Given the description of an element on the screen output the (x, y) to click on. 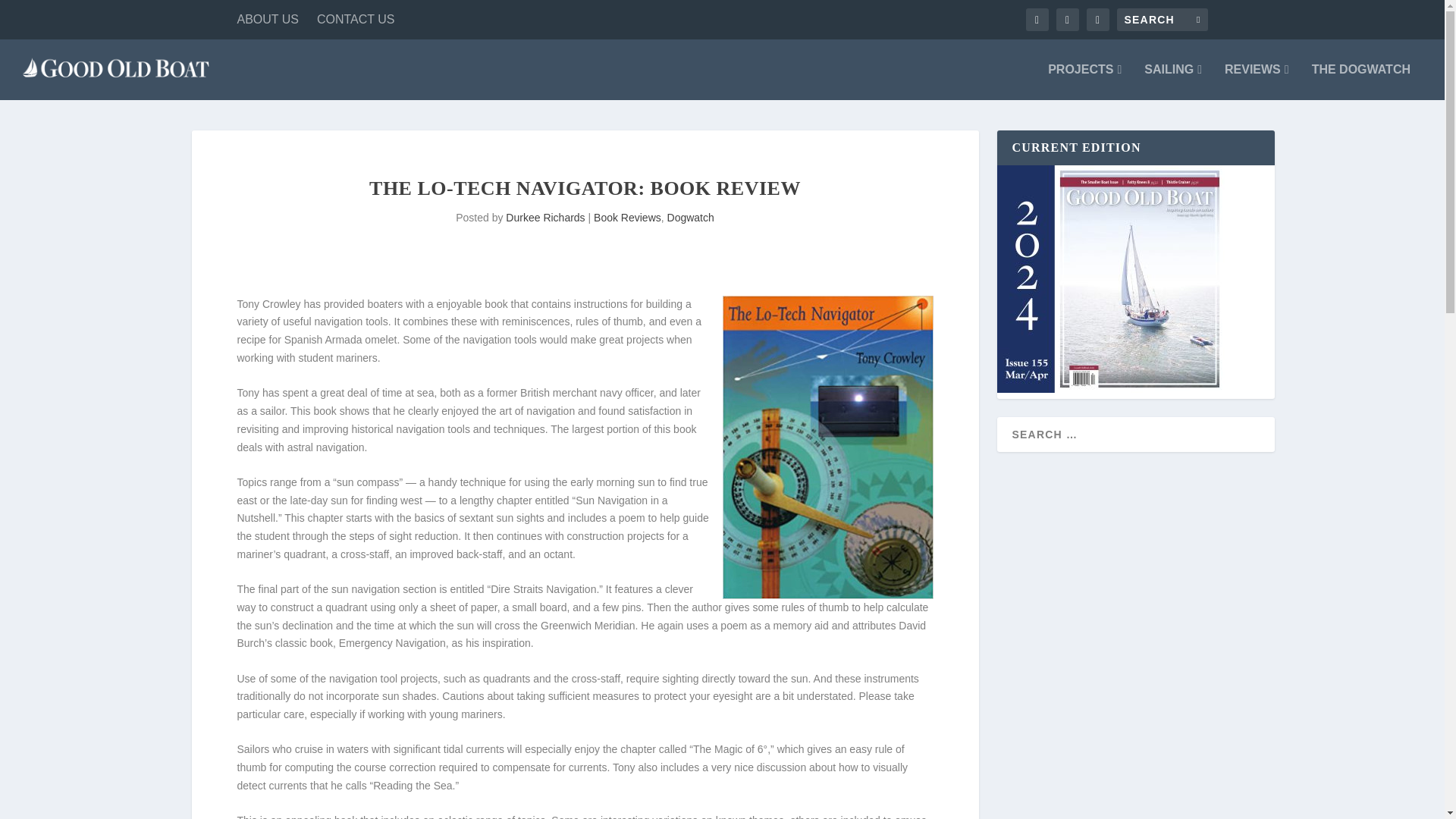
SAILING (1173, 81)
ABOUT US (266, 19)
THE DOGWATCH (1360, 81)
Dogwatch (690, 217)
Search for: (1161, 19)
REVIEWS (1256, 81)
Posts by Durkee Richards (545, 217)
Durkee Richards (545, 217)
CONTACT US (355, 19)
Book Reviews (627, 217)
